Given the description of an element on the screen output the (x, y) to click on. 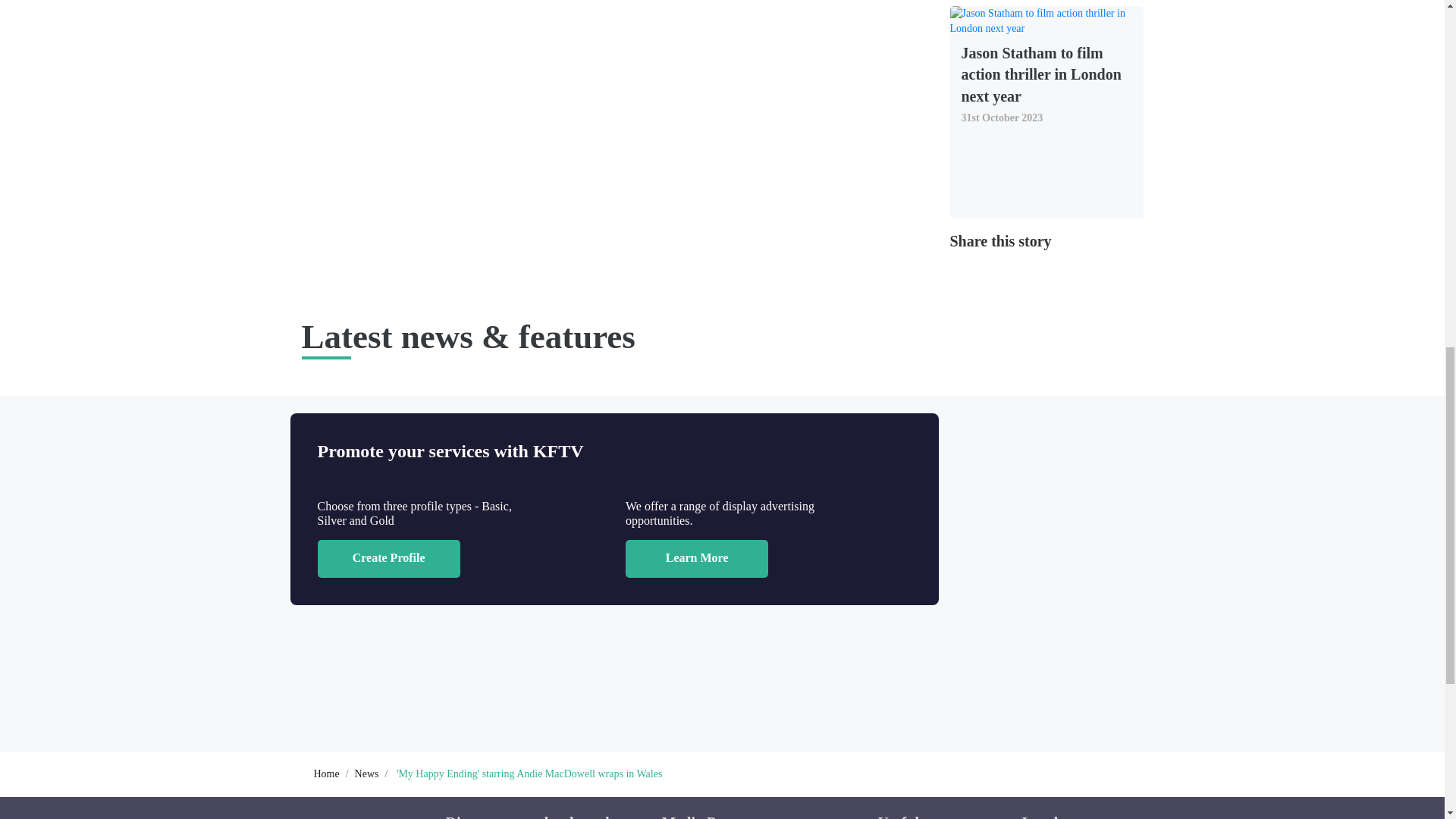
Jason Statham to film action thriller in London next year (1046, 71)
News (366, 773)
Learn More (697, 558)
Create Profile (388, 558)
Home (326, 773)
